Given the description of an element on the screen output the (x, y) to click on. 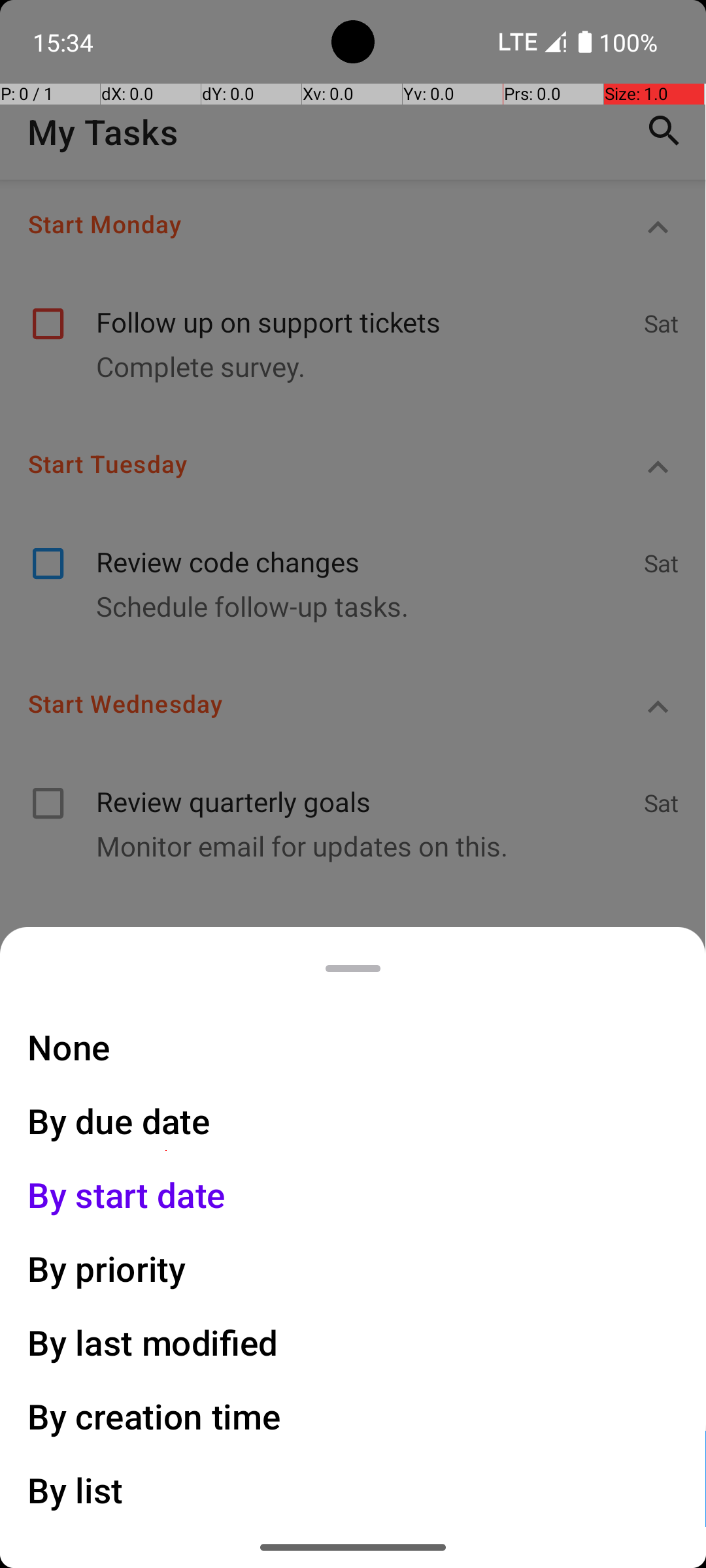
By last modified Element type: android.widget.TextView (152, 1342)
By creation time Element type: android.widget.TextView (154, 1415)
By list Element type: android.widget.TextView (75, 1489)
